Given the description of an element on the screen output the (x, y) to click on. 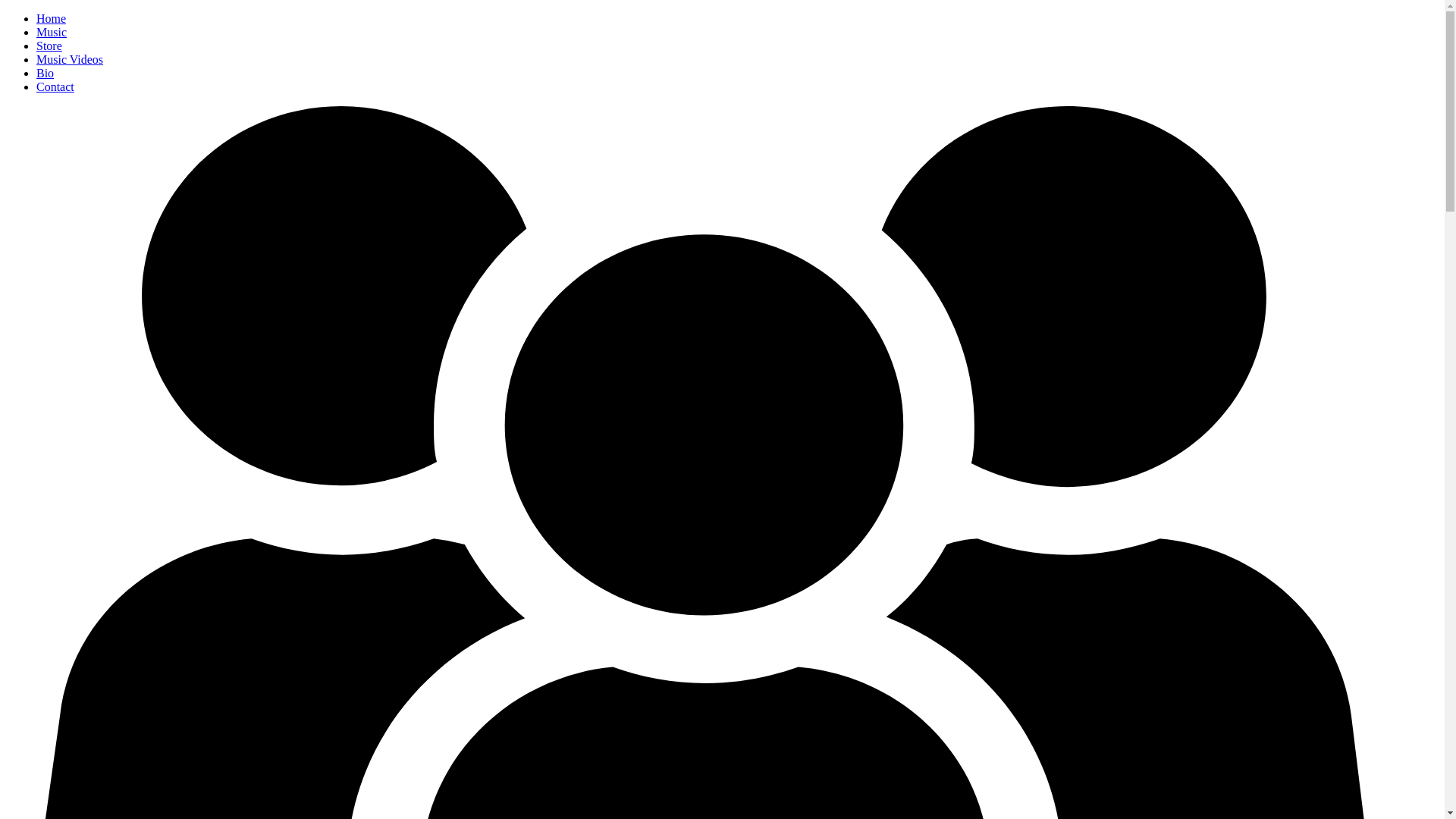
Music Element type: text (51, 31)
Store Element type: text (49, 45)
Music Videos Element type: text (69, 59)
Home Element type: text (50, 18)
Contact Element type: text (55, 86)
Bio Element type: text (44, 72)
